Given the description of an element on the screen output the (x, y) to click on. 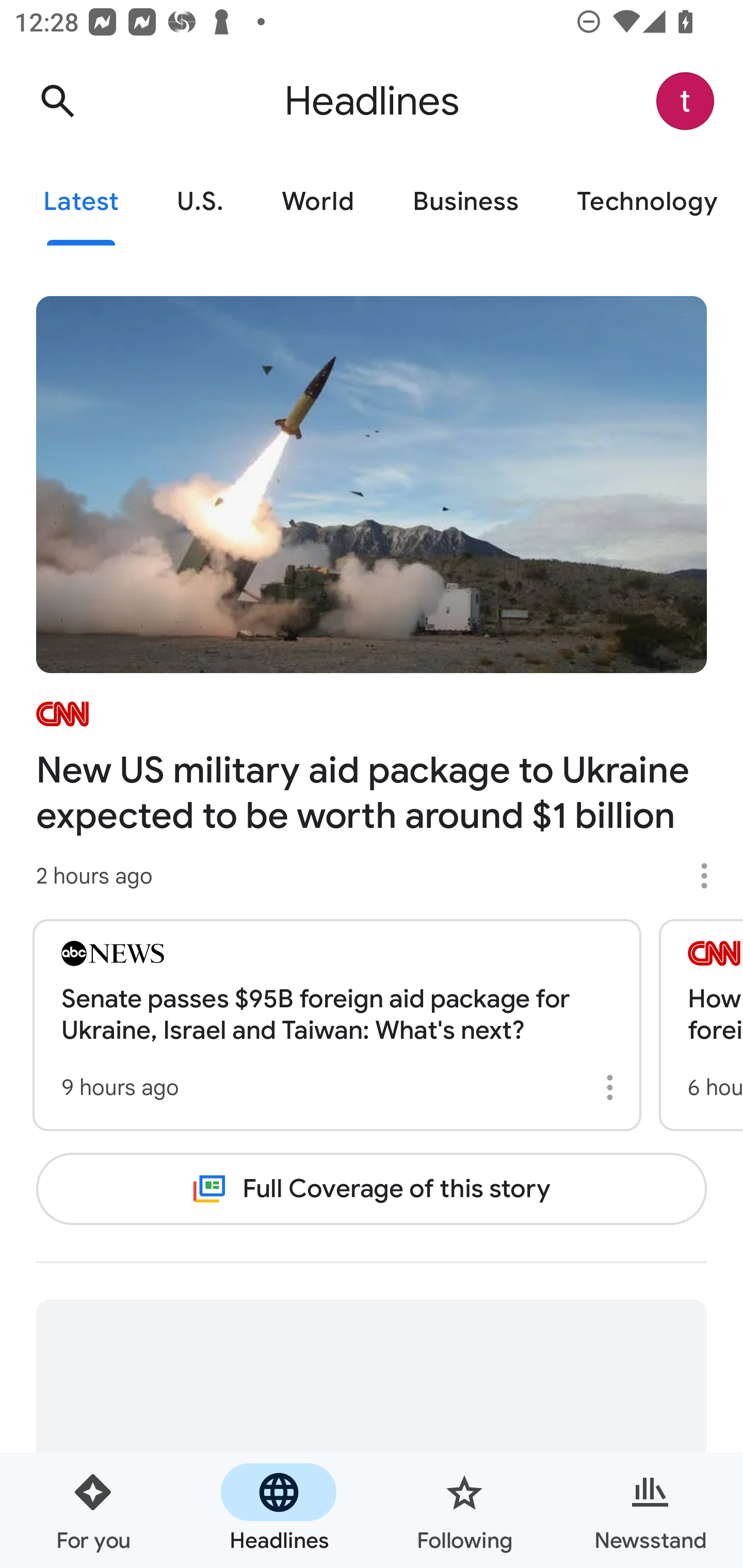
Search (57, 100)
U.S. (199, 202)
World (317, 202)
Business (465, 202)
Technology (645, 202)
More options (711, 875)
More options (613, 1086)
Full Coverage of this story (371, 1188)
For you (92, 1509)
Headlines (278, 1509)
Following (464, 1509)
Newsstand (650, 1509)
